Given the description of an element on the screen output the (x, y) to click on. 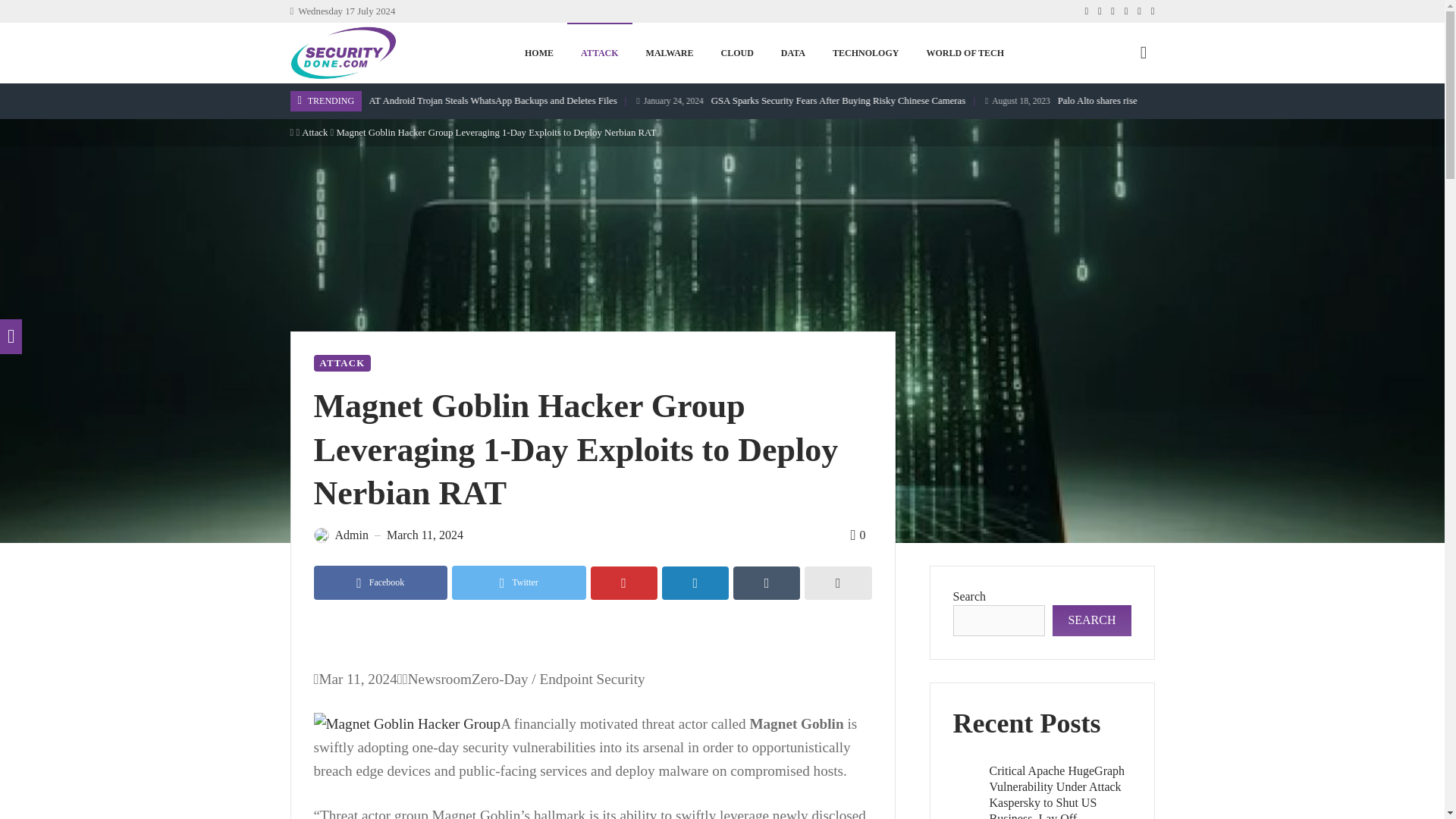
WORLD OF TECH (964, 52)
TECHNOLOGY (865, 52)
Magnet Goblin Hacker Group (407, 724)
CLOUD (736, 52)
Securitydone (342, 52)
MALWARE (669, 52)
HOME (539, 52)
ATTACK (599, 52)
